Given the description of an element on the screen output the (x, y) to click on. 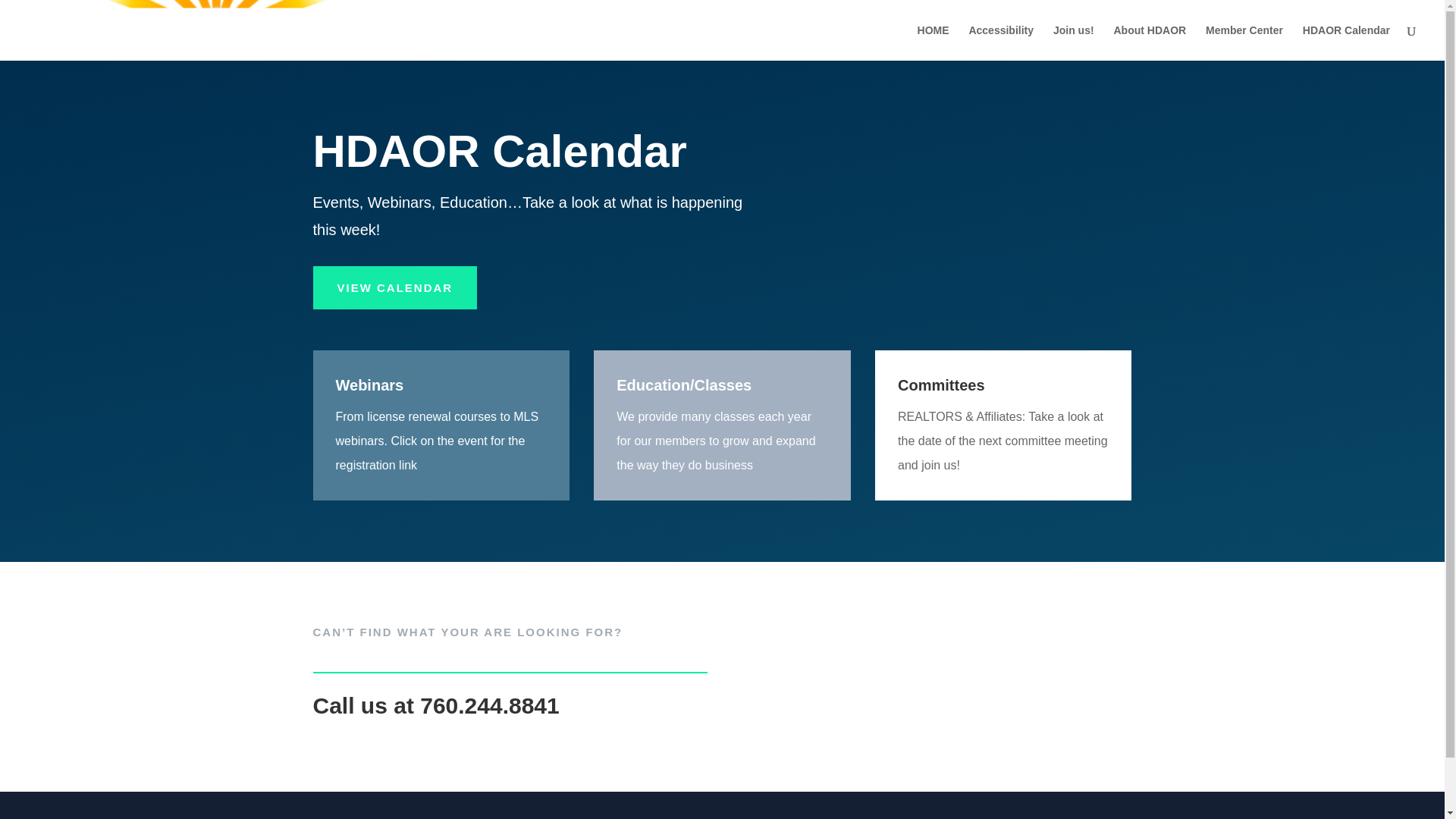
VIEW CALENDAR (395, 288)
HOME (933, 42)
HDAOR Calendar (1346, 42)
Join us! (1073, 42)
Accessibility (1000, 42)
About HDAOR (1149, 42)
Member Center (1243, 42)
